Given the description of an element on the screen output the (x, y) to click on. 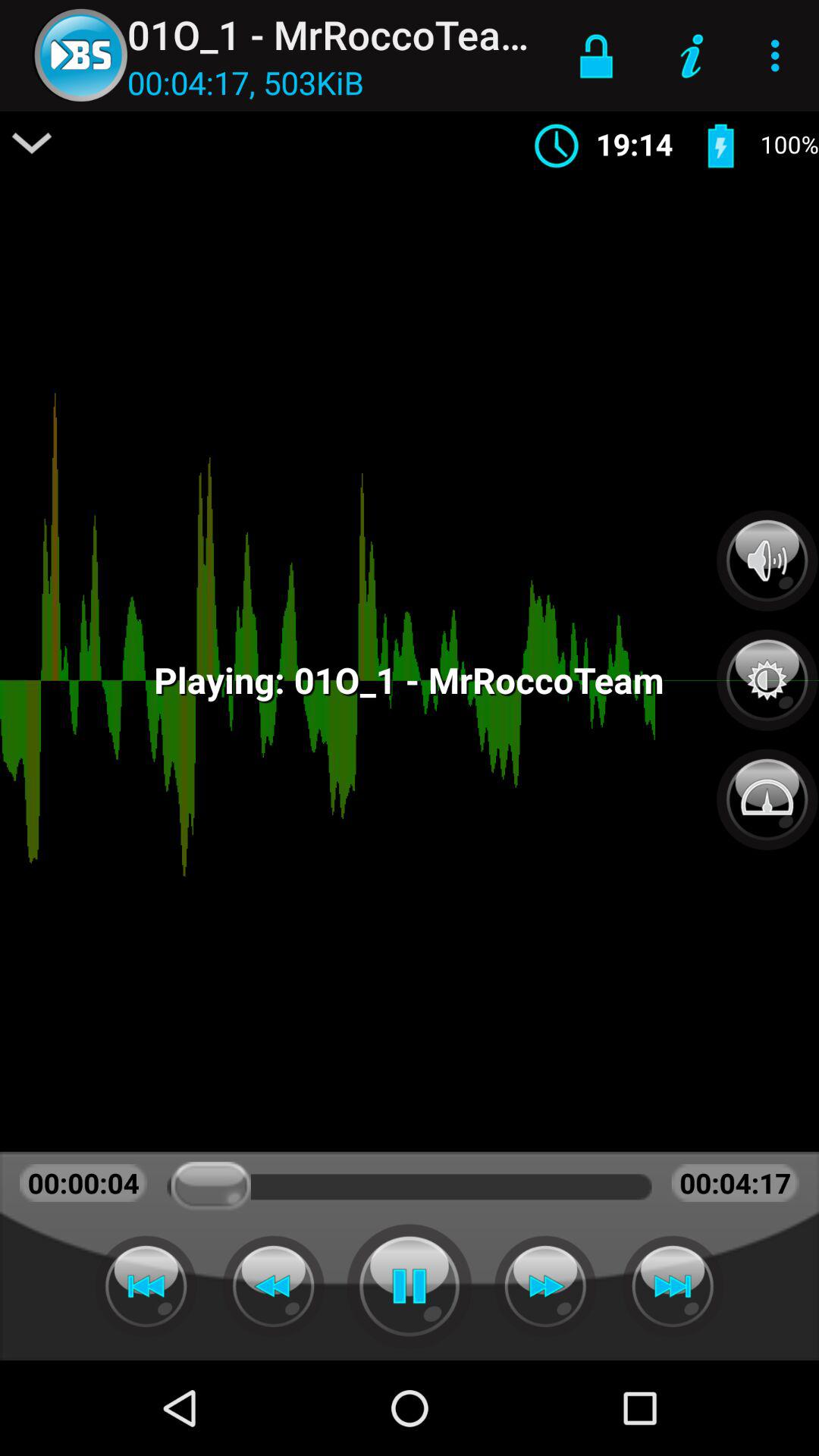
play back option (273, 1286)
